Given the description of an element on the screen output the (x, y) to click on. 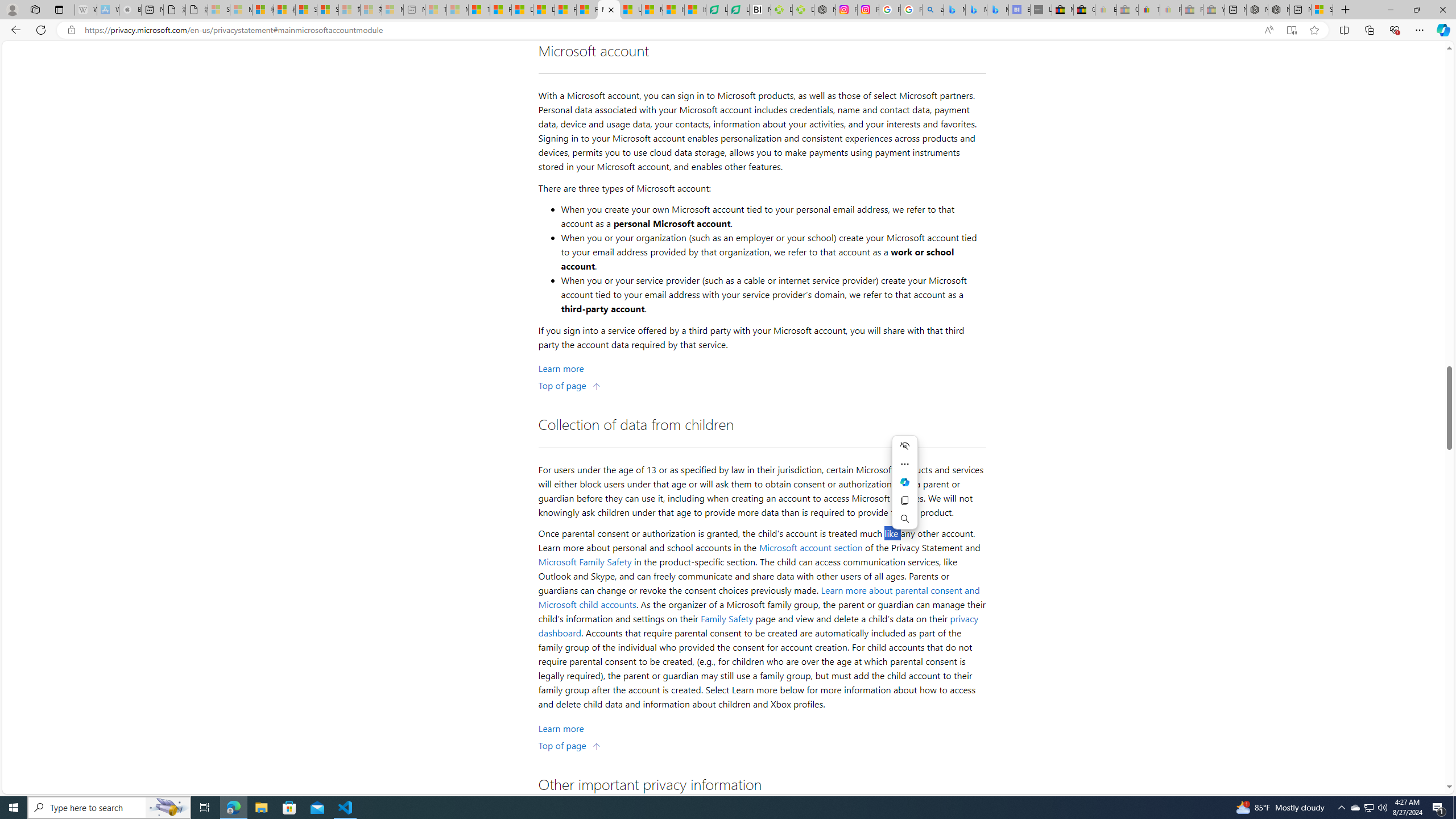
Press Room - eBay Inc. - Sleeping (1192, 9)
Buy iPad - Apple - Sleeping (130, 9)
